Given the description of an element on the screen output the (x, y) to click on. 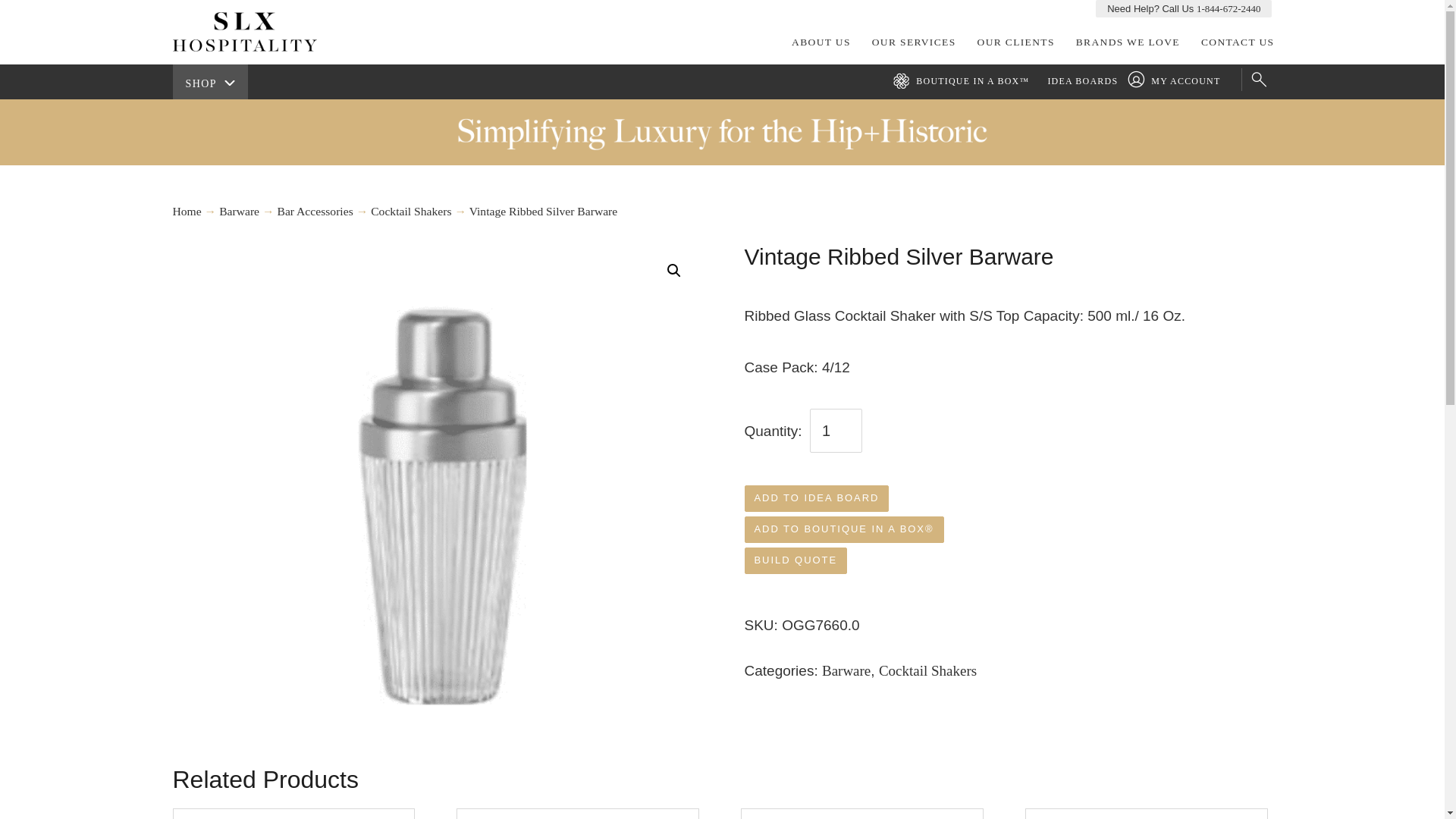
1-844-672-2440 (1228, 8)
IDEA BOARDS (1082, 81)
OUR SERVICES (913, 42)
OUR CLIENTS (1015, 42)
MY ACCOUNT (1177, 81)
BRANDS WE LOVE (1128, 42)
CONTACT US (1238, 42)
1 (835, 430)
ABOUT US (820, 42)
Page 2 (1008, 342)
SHOP (210, 81)
